Given the description of an element on the screen output the (x, y) to click on. 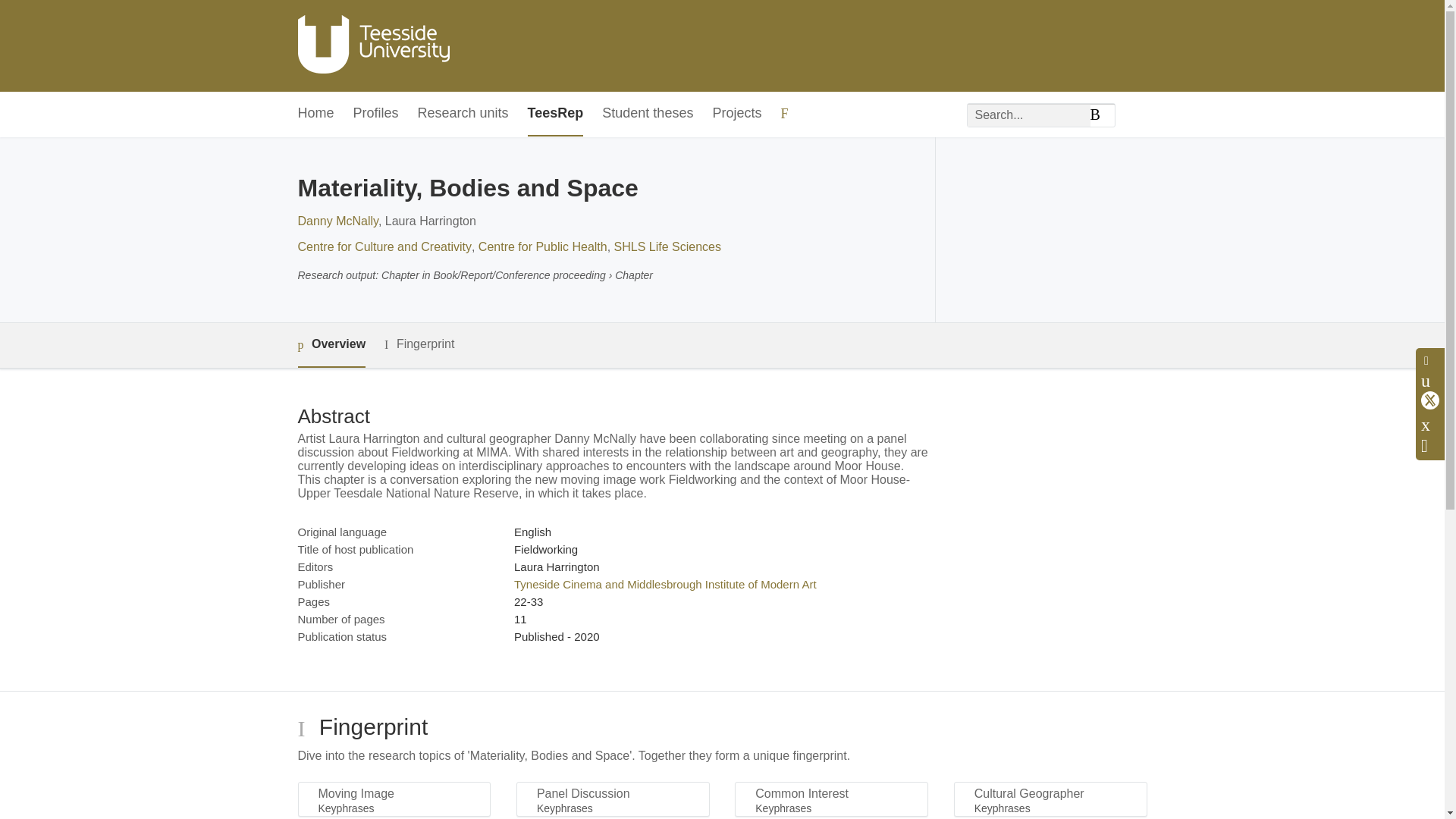
Projects (736, 113)
Overview (331, 344)
Fingerprint (419, 344)
Profiles (375, 113)
Teesside University's Research Portal Home (372, 45)
Centre for Culture and Creativity (383, 246)
Centre for Public Health (543, 246)
Danny McNally (337, 220)
Home (315, 113)
Student theses (647, 113)
SHLS Life Sciences (667, 246)
Tyneside Cinema and Middlesbrough Institute of Modern Art (664, 584)
Research units (462, 113)
TeesRep (555, 113)
